Given the description of an element on the screen output the (x, y) to click on. 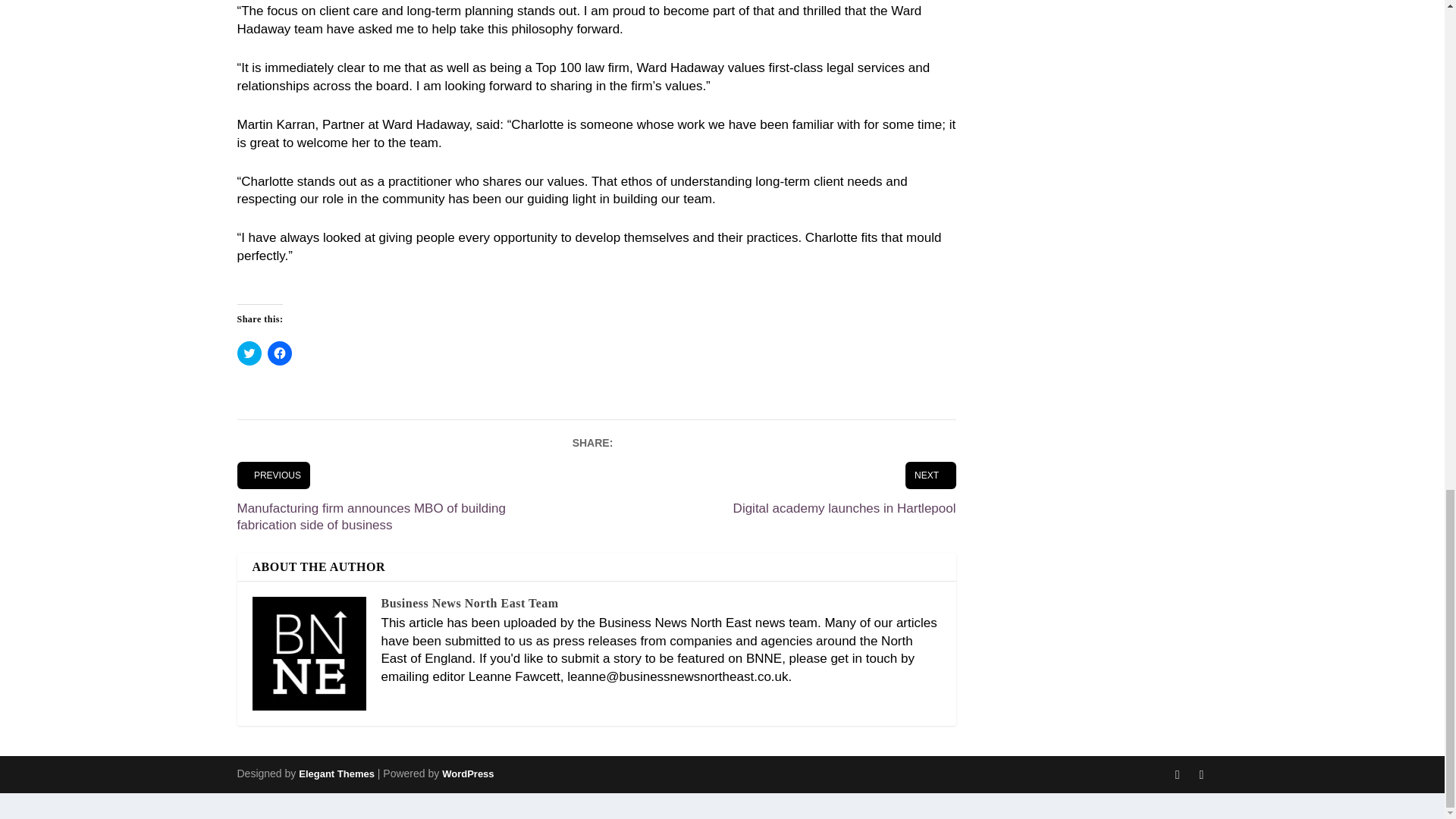
Click to share on Twitter (247, 353)
WordPress (467, 773)
Click to share on Facebook (278, 353)
Business News North East Team (468, 603)
View all posts by Business News North East Team (468, 603)
Premium WordPress Themes (336, 773)
Elegant Themes (336, 773)
